Given the description of an element on the screen output the (x, y) to click on. 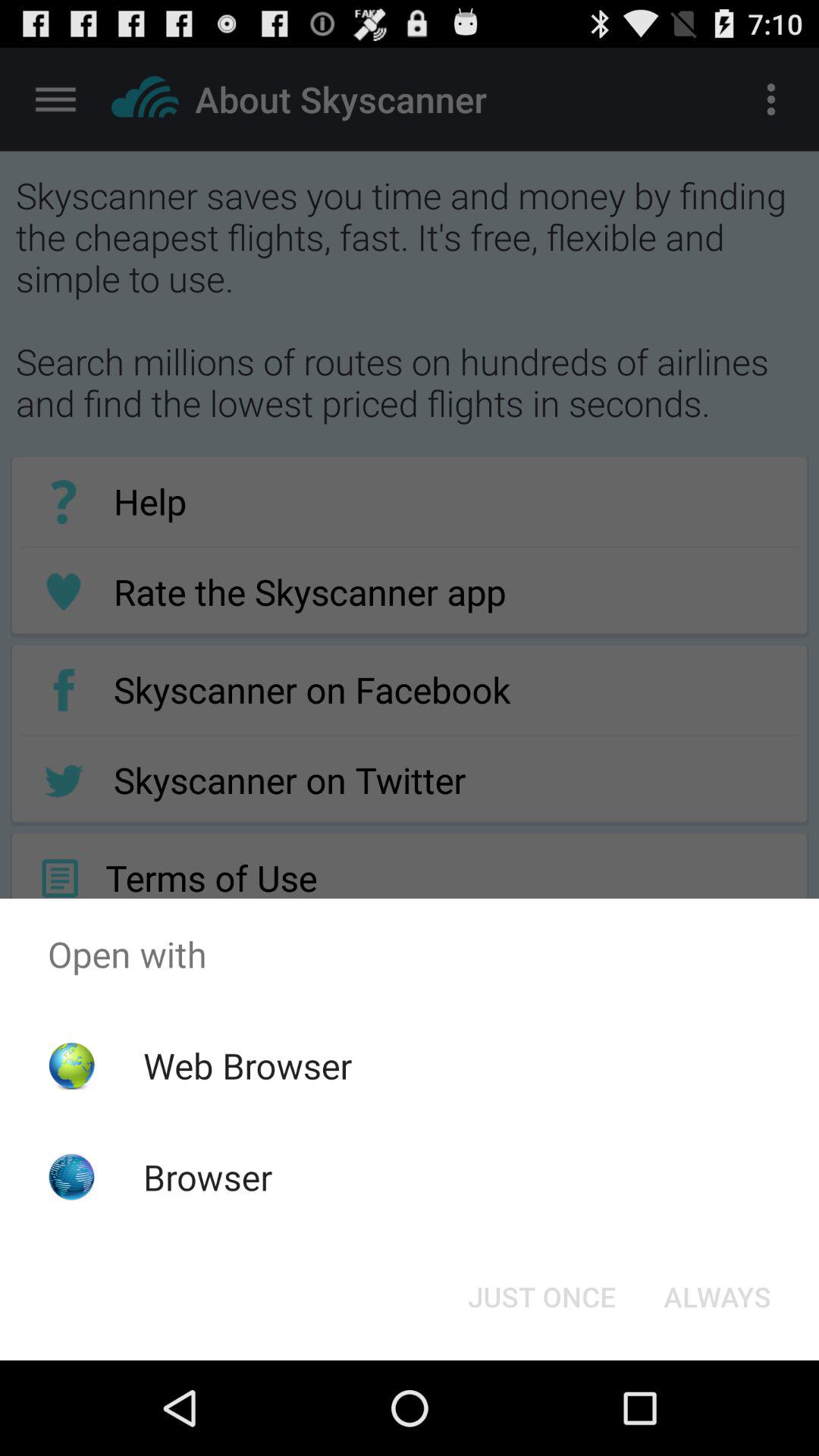
click the item below the open with app (717, 1296)
